Given the description of an element on the screen output the (x, y) to click on. 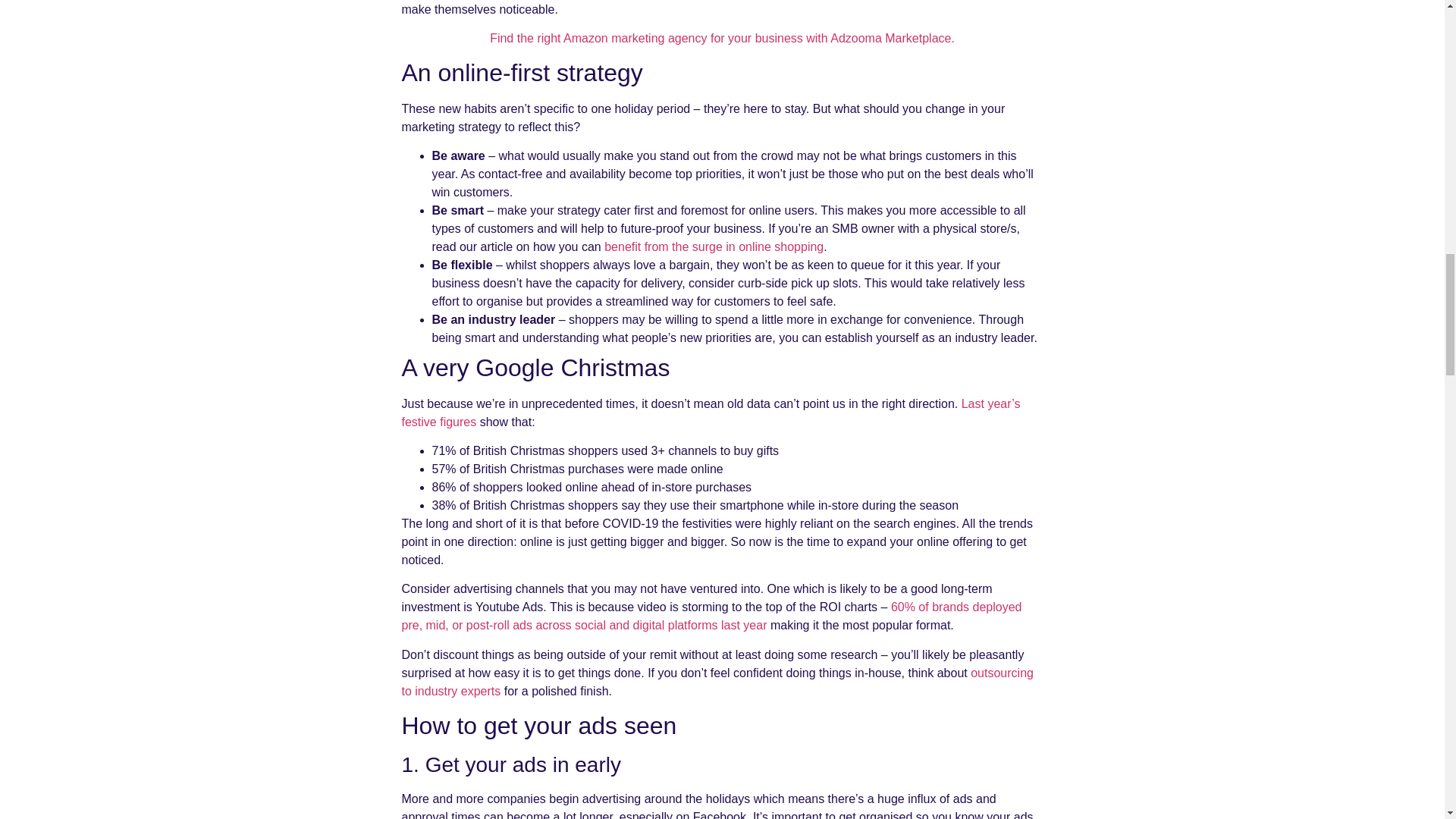
outsourcing to industry experts (717, 681)
benefit from the surge in online shopping (714, 246)
